Given the description of an element on the screen output the (x, y) to click on. 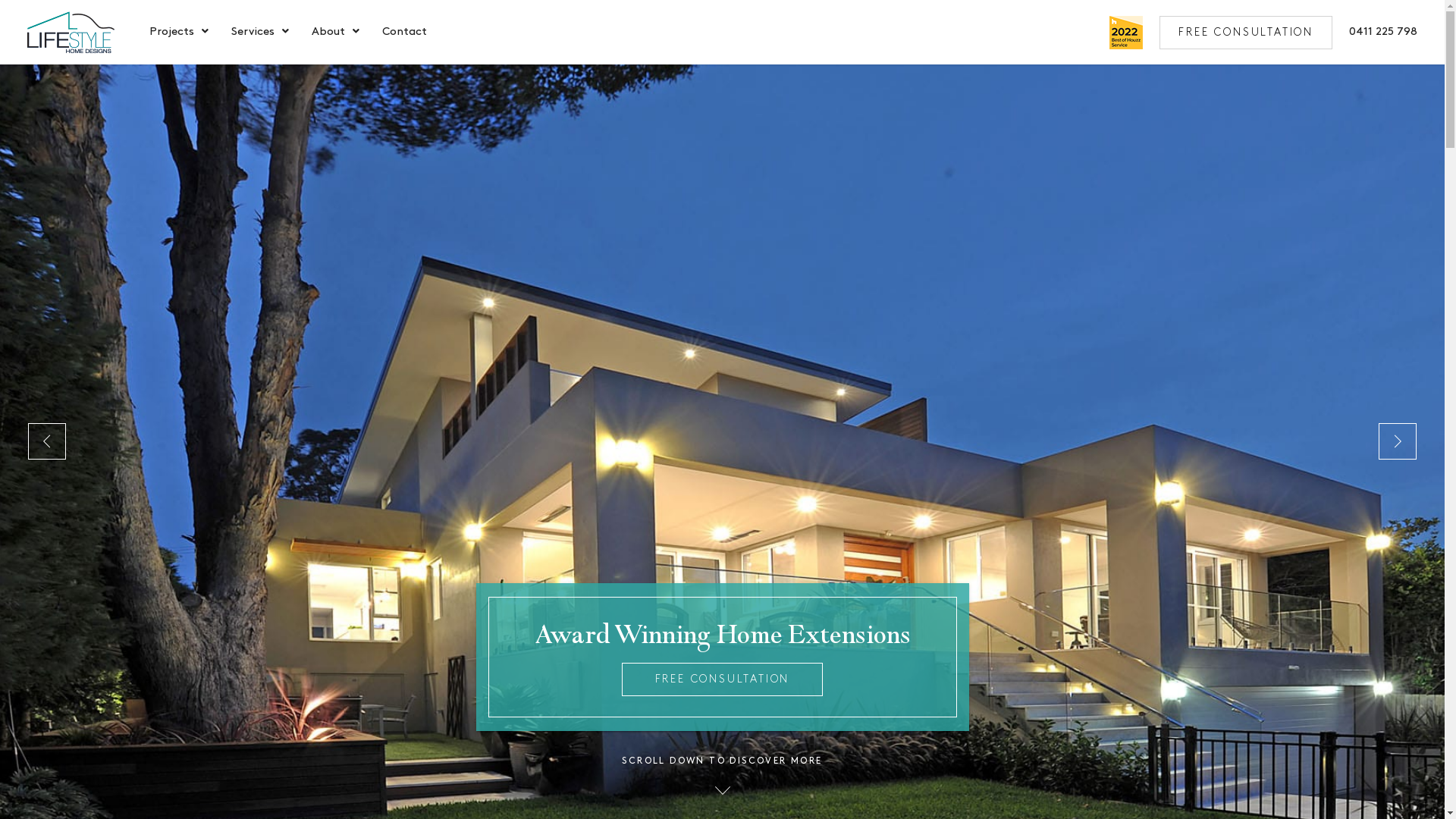
FREE CONSULTATION Element type: text (721, 679)
0411 225 798 Element type: text (1383, 31)
Services Element type: text (252, 32)
Projects Element type: text (171, 32)
Previous Slide Element type: hover (46, 441)
Next Slide Element type: hover (1397, 441)
About Element type: text (328, 32)
Contact Element type: text (404, 32)
FREE CONSULTATION Element type: text (1245, 31)
